Given the description of an element on the screen output the (x, y) to click on. 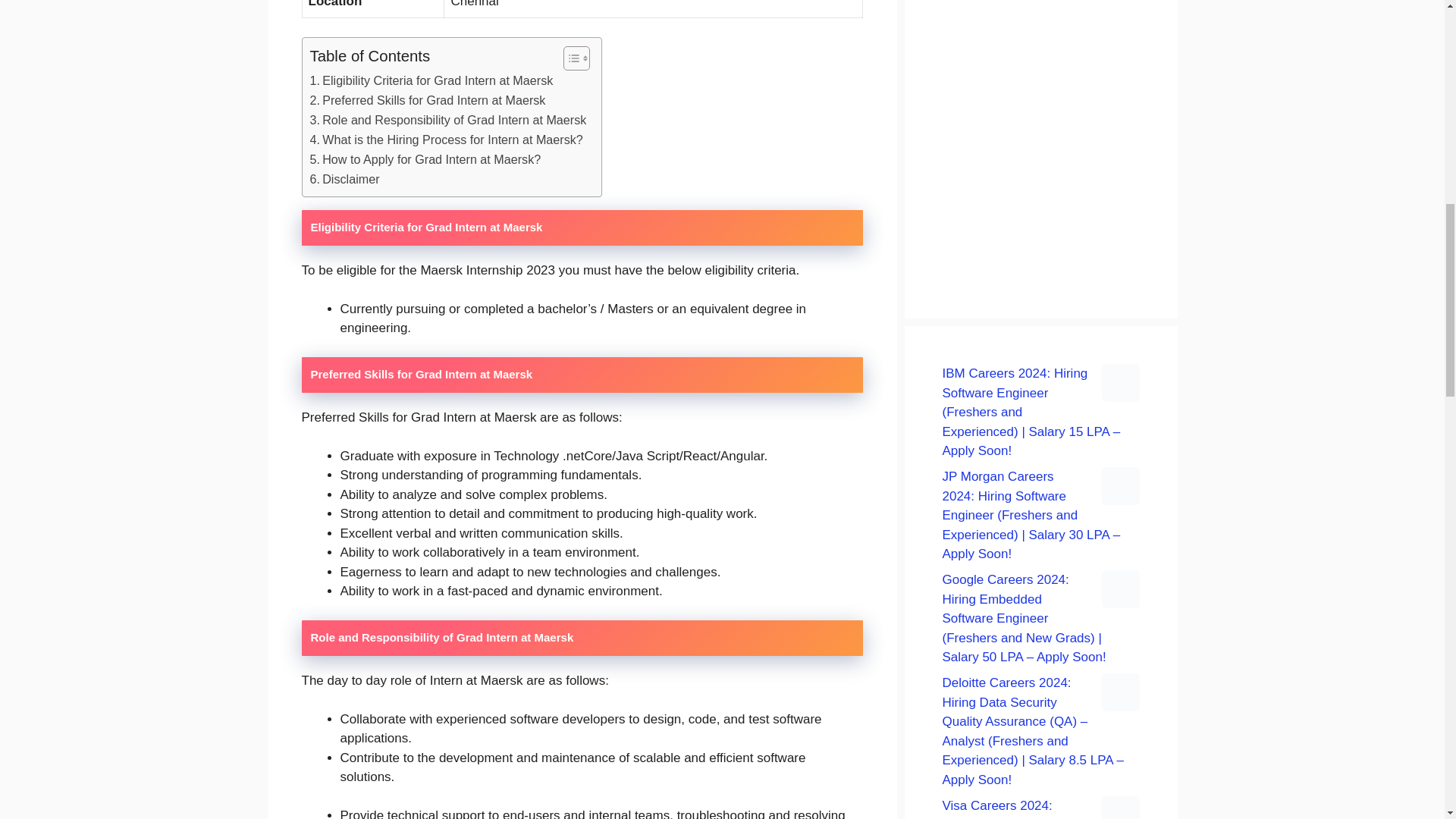
Disclaimer (343, 179)
Preferred Skills for Grad Intern at Maersk (426, 100)
Eligibility Criteria for Grad Intern at Maersk (430, 80)
Disclaimer (343, 179)
How to Apply for Grad Intern at Maersk? (424, 159)
Preferred Skills for Grad Intern at Maersk (426, 100)
Role and Responsibility of Grad Intern at Maersk (447, 120)
What is the Hiring Process for Intern at Maersk? (445, 139)
Eligibility Criteria for Grad Intern at Maersk (430, 80)
How to Apply for Grad Intern at Maersk? (424, 159)
